Given the description of an element on the screen output the (x, y) to click on. 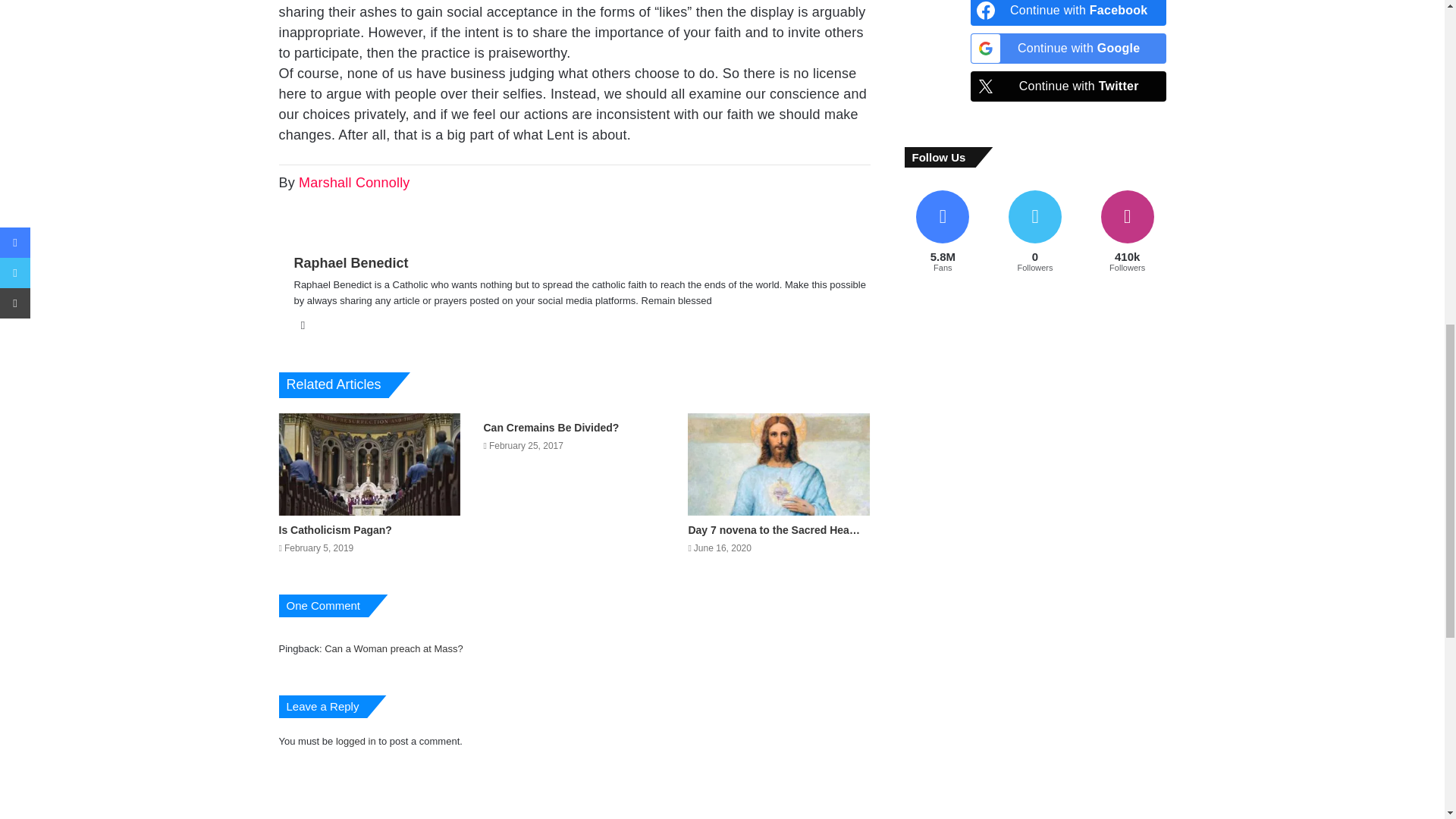
Marshall Connolly (353, 182)
Raphael Benedict (351, 263)
